Given the description of an element on the screen output the (x, y) to click on. 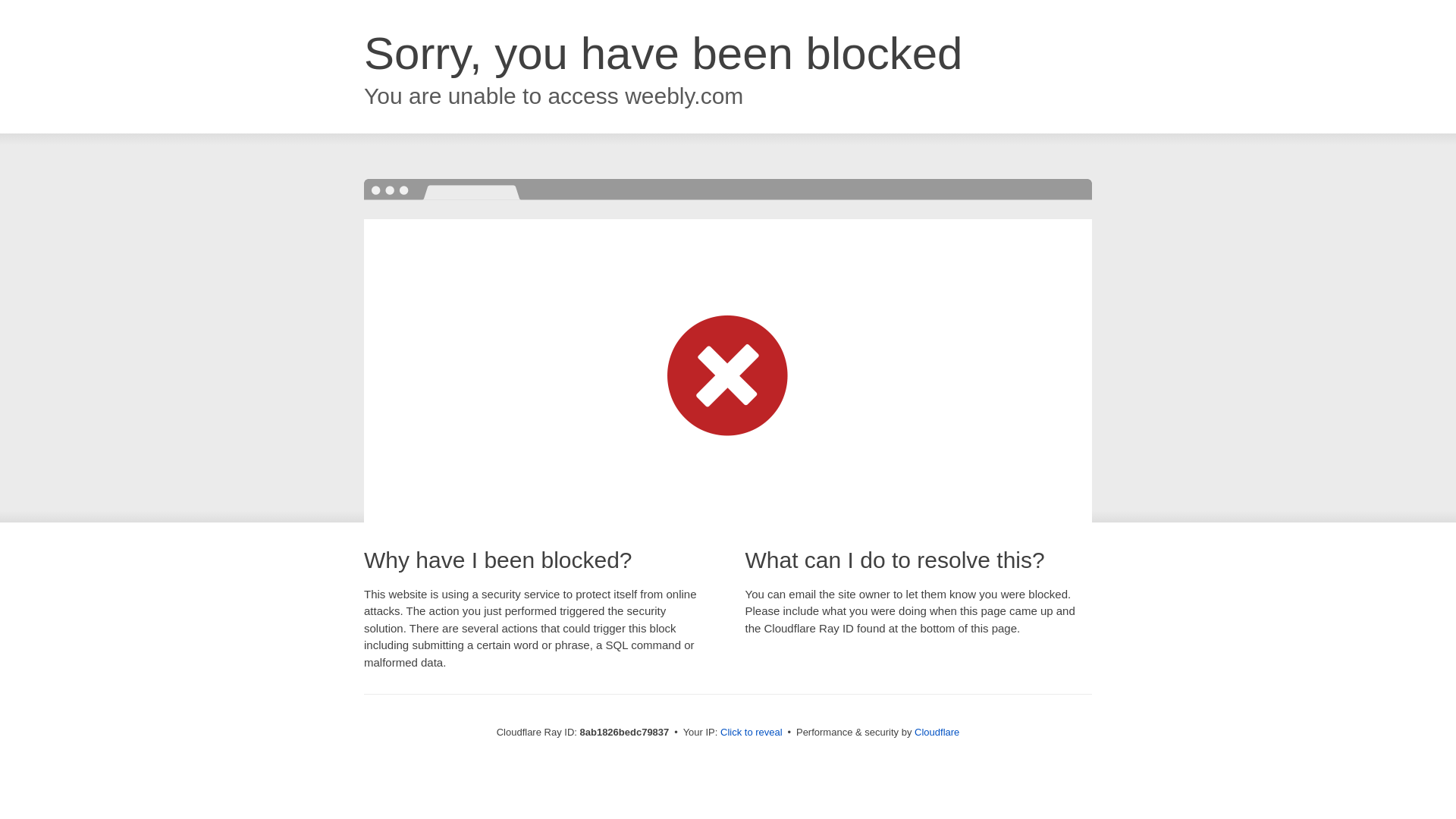
Click to reveal (751, 732)
Cloudflare (936, 731)
